Given the description of an element on the screen output the (x, y) to click on. 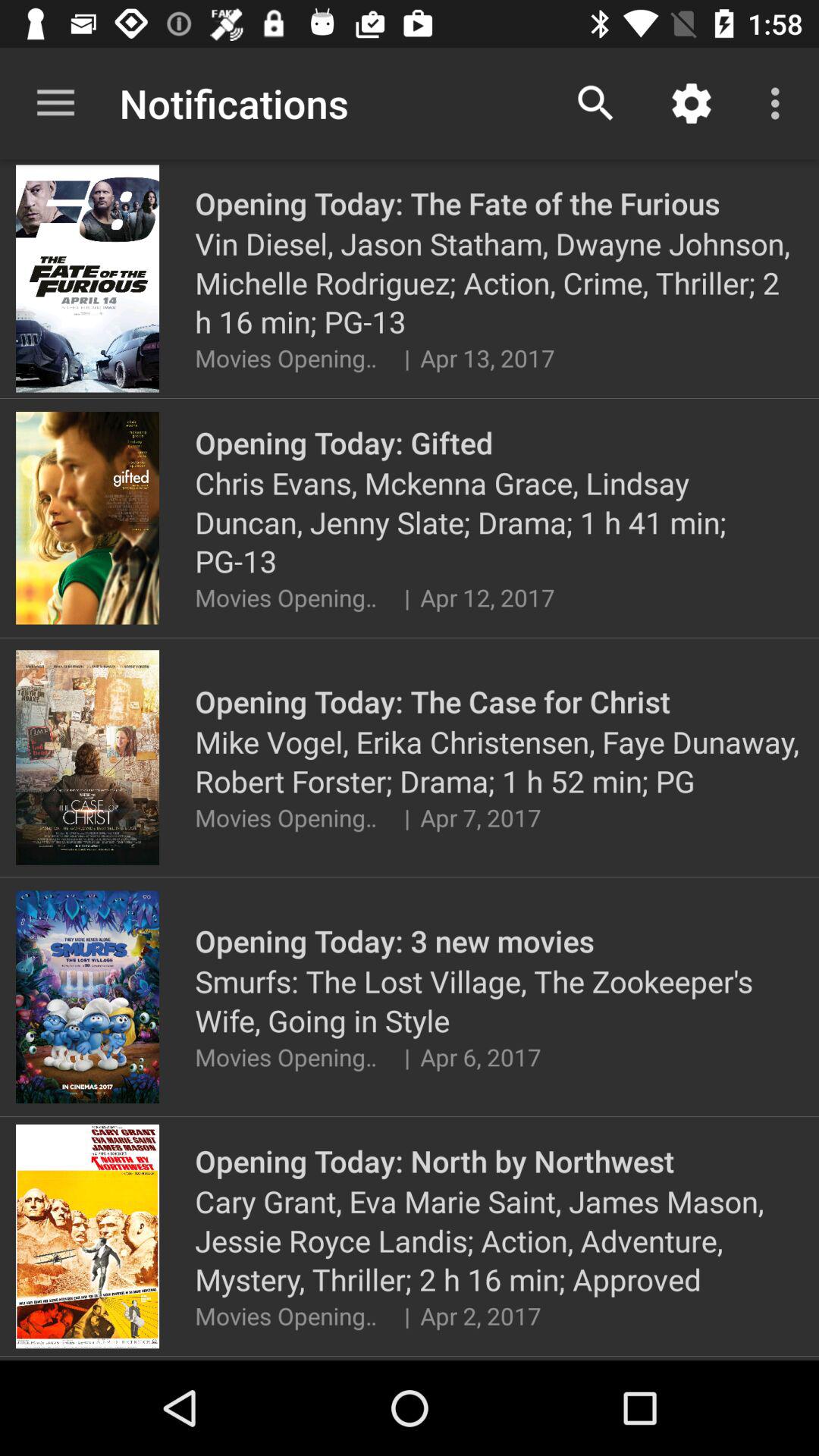
launch item above opening today the (691, 103)
